Given the description of an element on the screen output the (x, y) to click on. 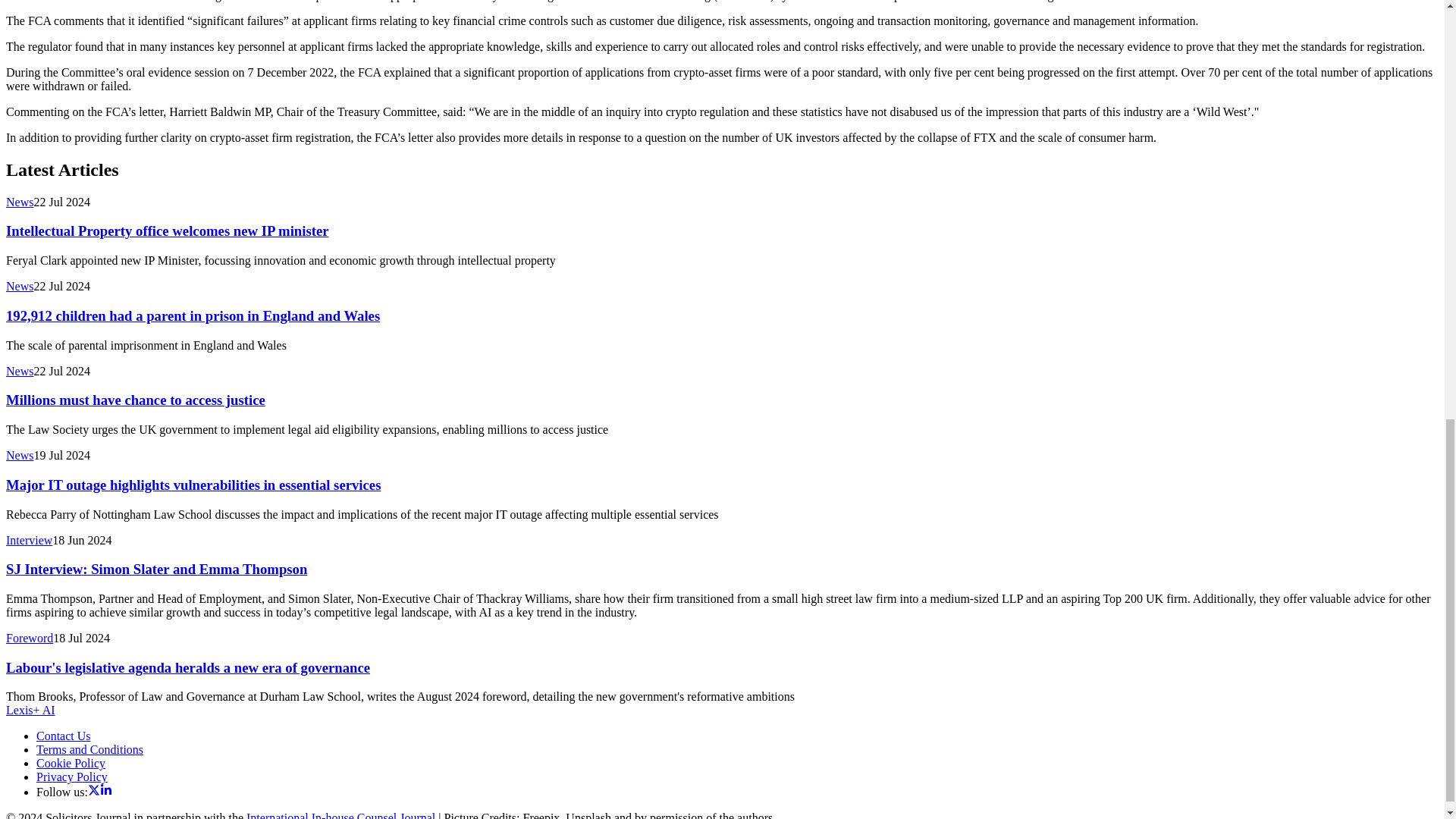
News (19, 201)
News (19, 286)
Intellectual Property office welcomes new IP minister (167, 230)
